Given the description of an element on the screen output the (x, y) to click on. 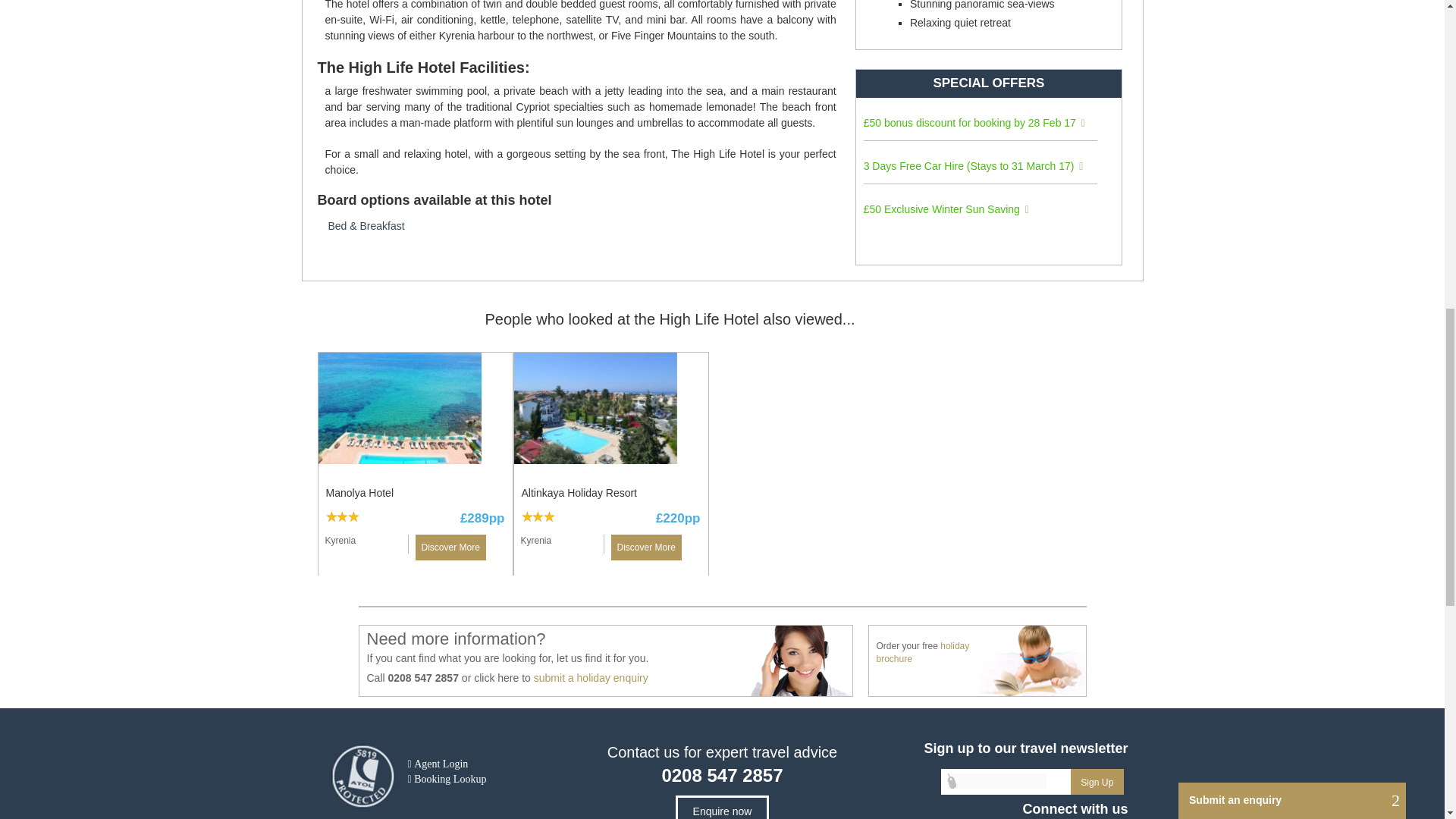
Sign Up (1097, 781)
Discover More (450, 547)
Discover More (646, 547)
